Given the description of an element on the screen output the (x, y) to click on. 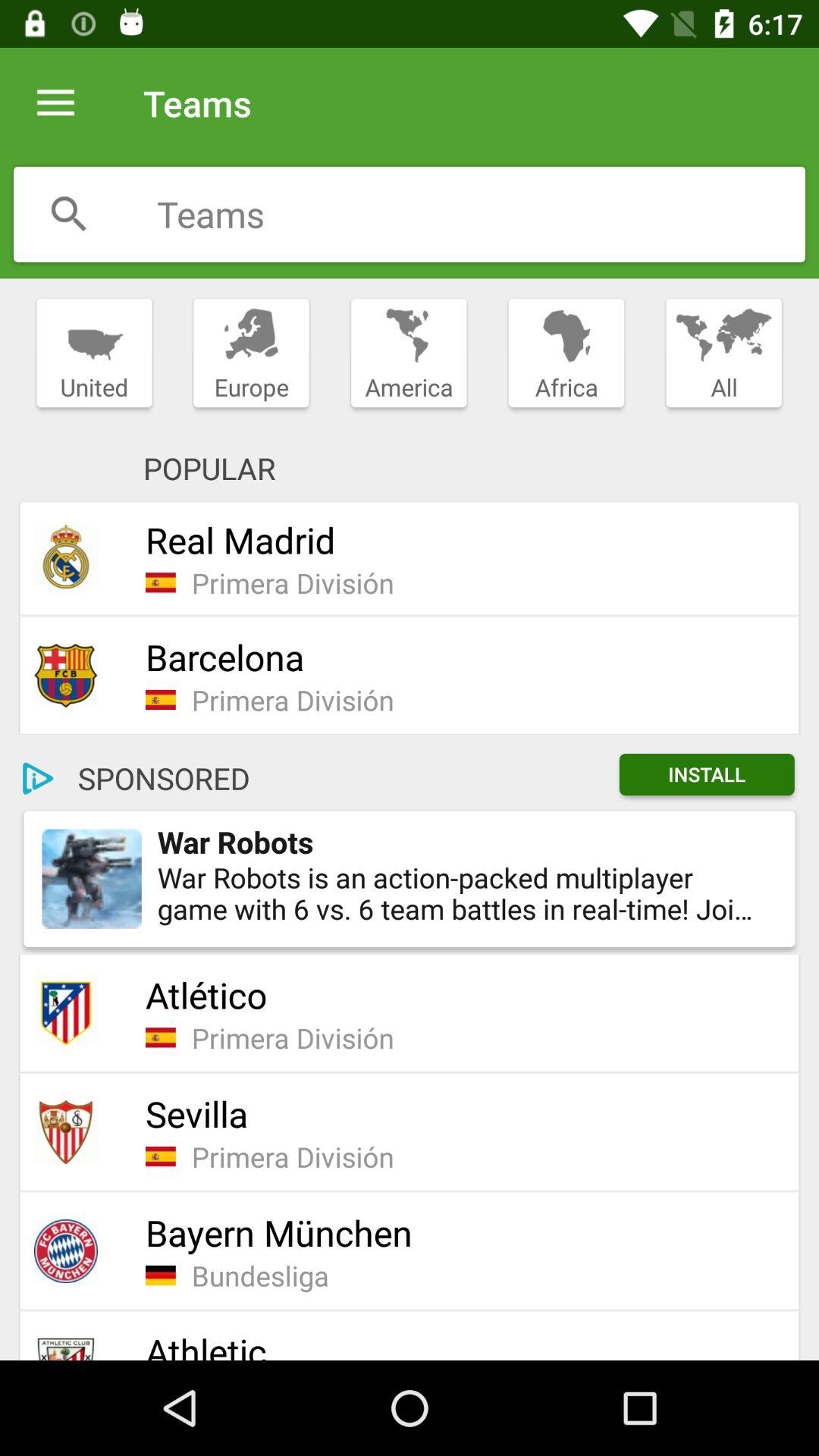
tap icon next to europe item (408, 353)
